Given the description of an element on the screen output the (x, y) to click on. 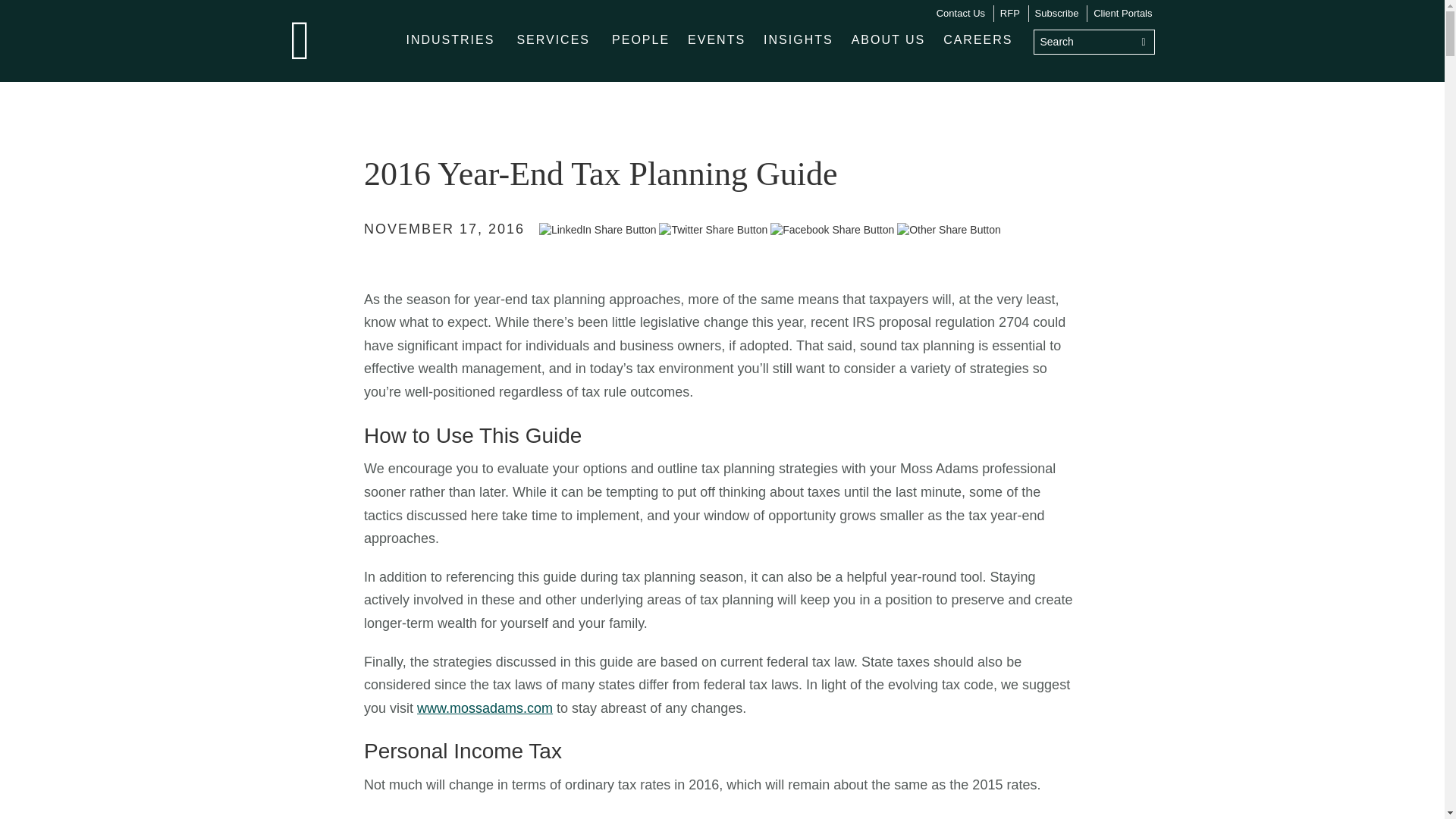
SERVICES (552, 39)
INDUSTRIES (449, 39)
